Given the description of an element on the screen output the (x, y) to click on. 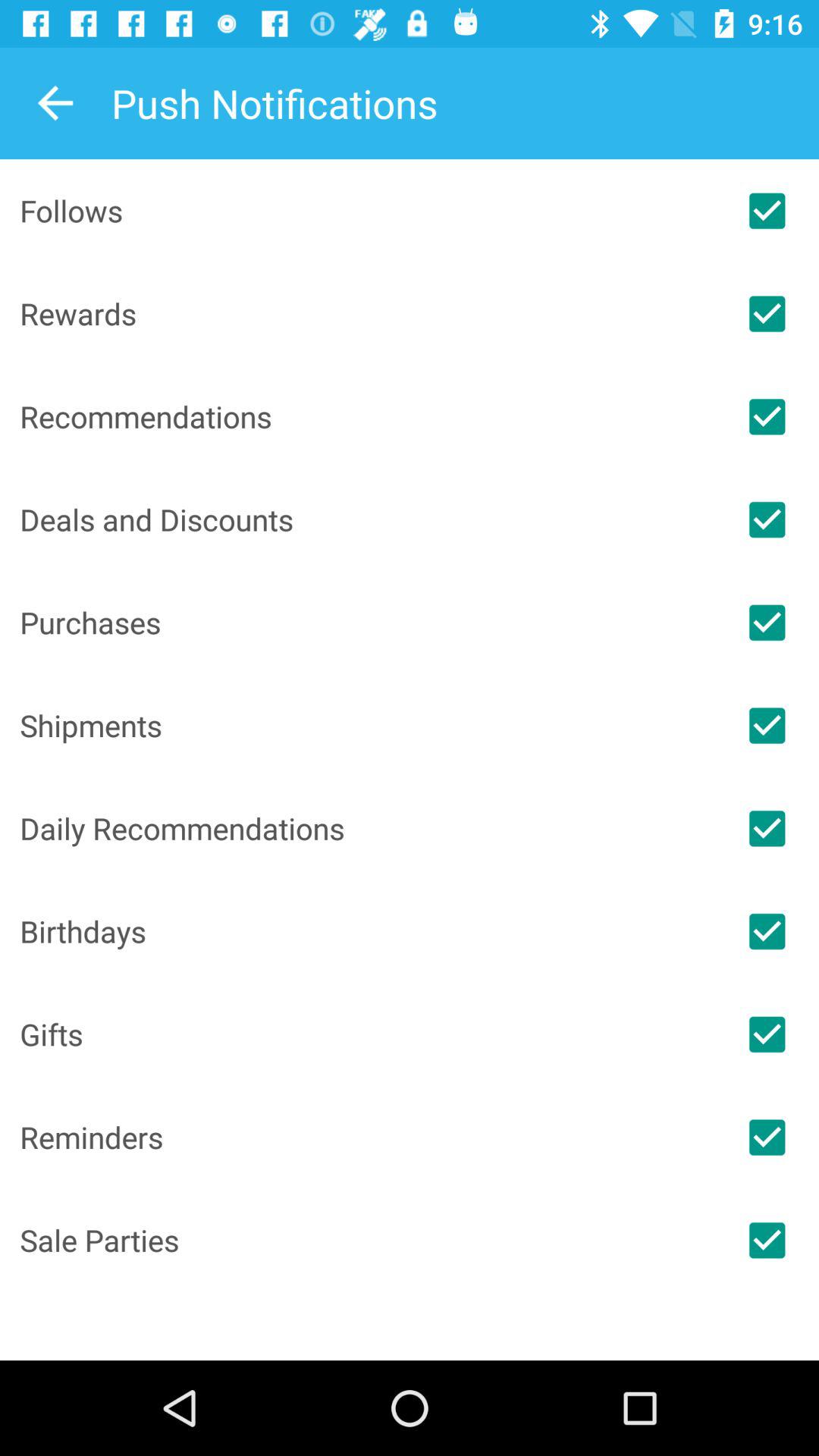
press the deals and discounts item (367, 519)
